Given the description of an element on the screen output the (x, y) to click on. 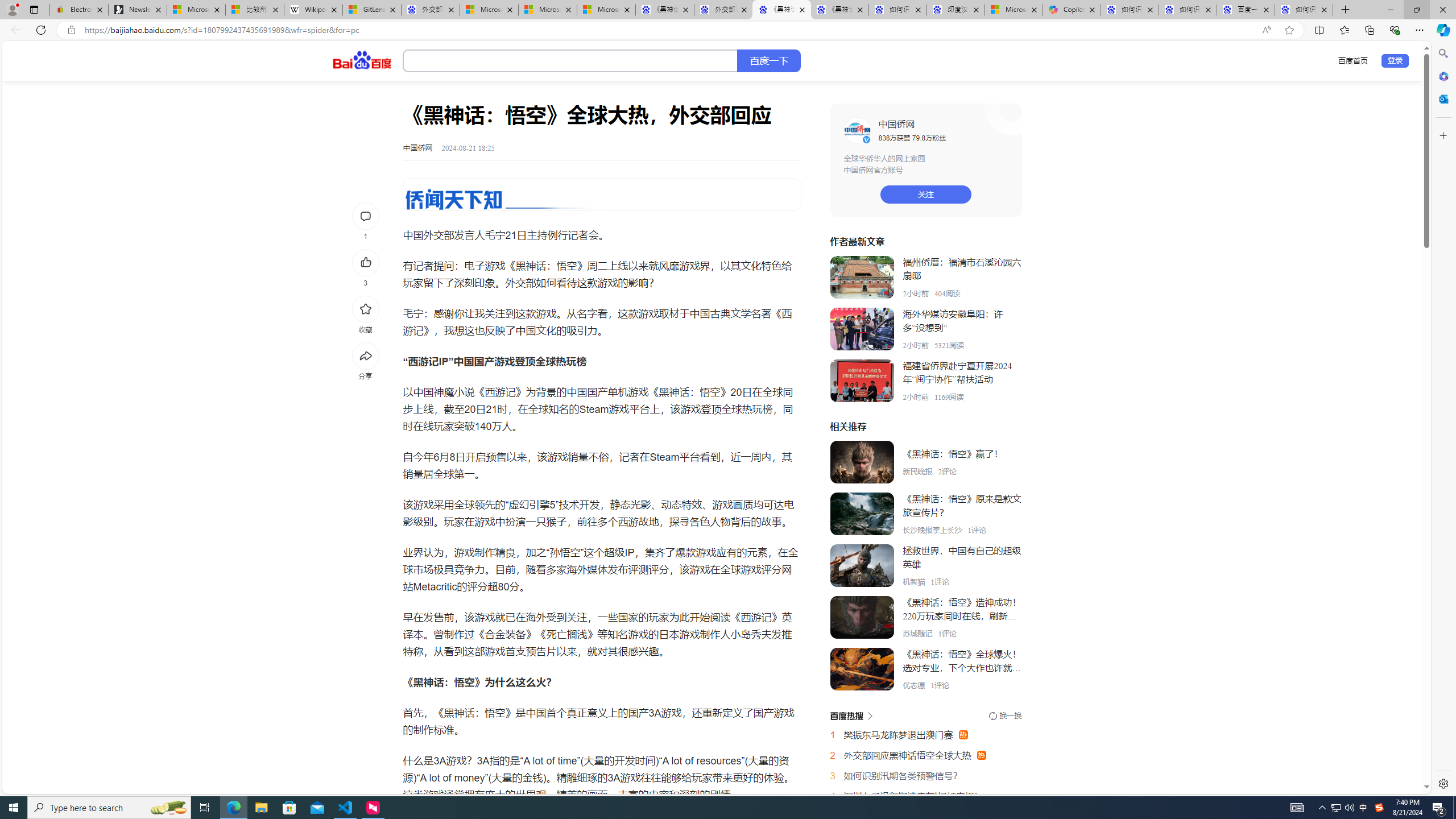
Copilot (1071, 9)
Wikipedia (313, 9)
